Given the description of an element on the screen output the (x, y) to click on. 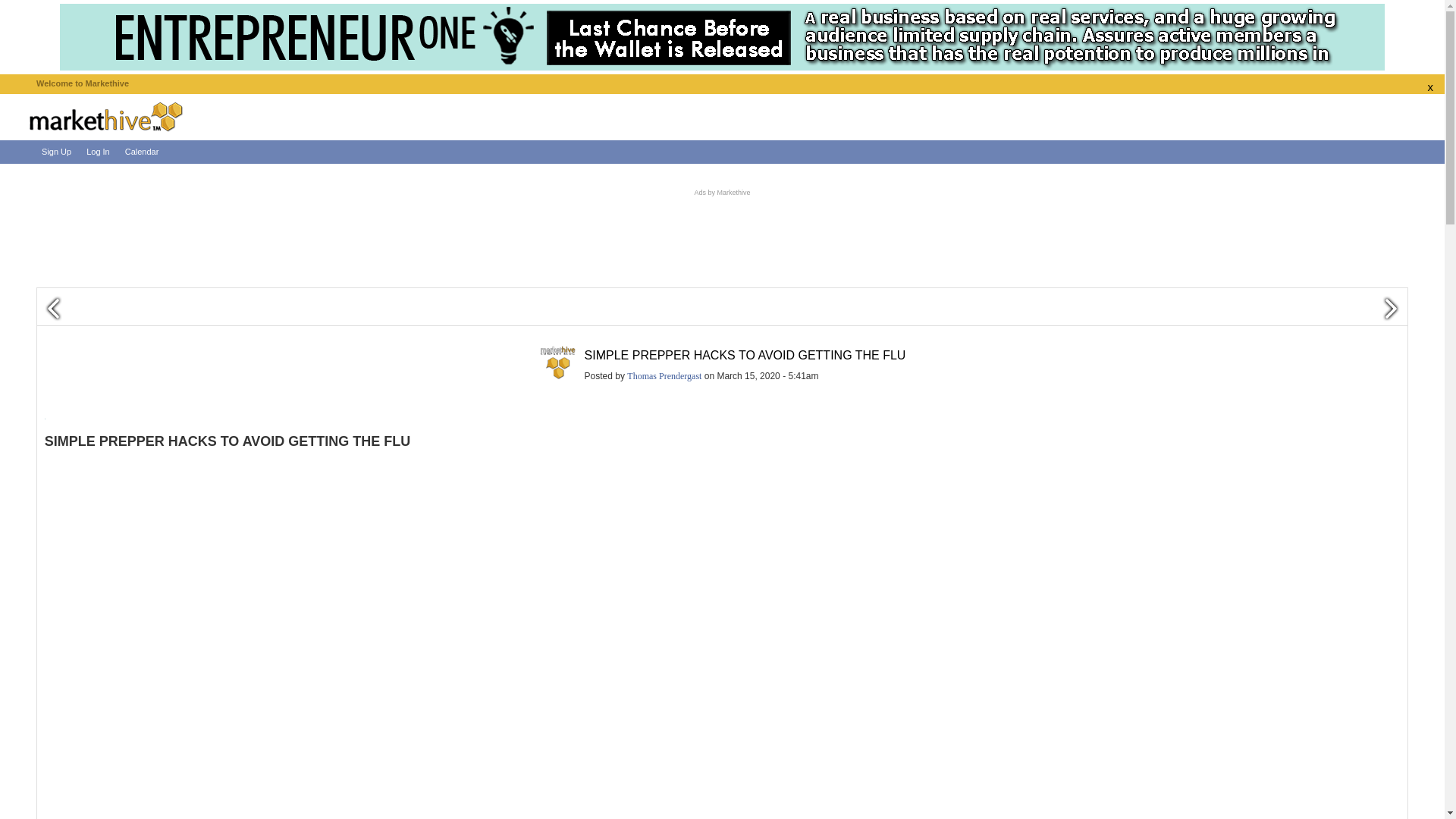
Sign Up (55, 152)
Tip (870, 376)
Calendar (142, 152)
Log In (97, 152)
Thomas Prendergast (664, 376)
MARKETING DEPARTMENT (557, 362)
